Given the description of an element on the screen output the (x, y) to click on. 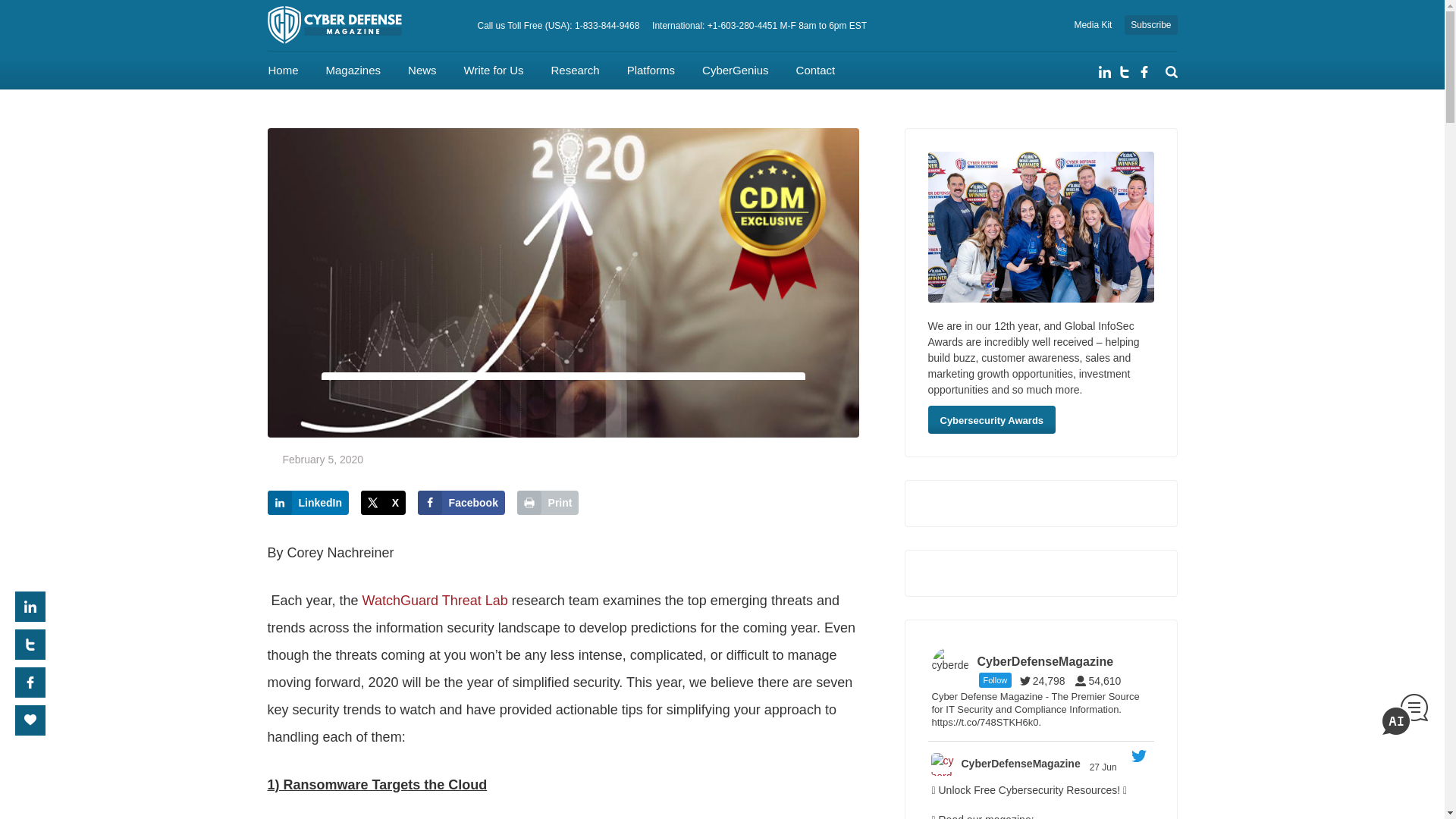
Magazines (353, 70)
CyberGenius (734, 70)
Research (574, 70)
24,798 Tweets (1046, 680)
Platforms (651, 70)
Home (282, 70)
News (421, 70)
Print this webpage (547, 502)
Write for Us (494, 70)
Contact (815, 70)
Share on LinkedIn (307, 502)
Share on X (383, 502)
Subscribe (1150, 25)
Share on Facebook (461, 502)
54,610 Followers (1101, 680)
